Given the description of an element on the screen output the (x, y) to click on. 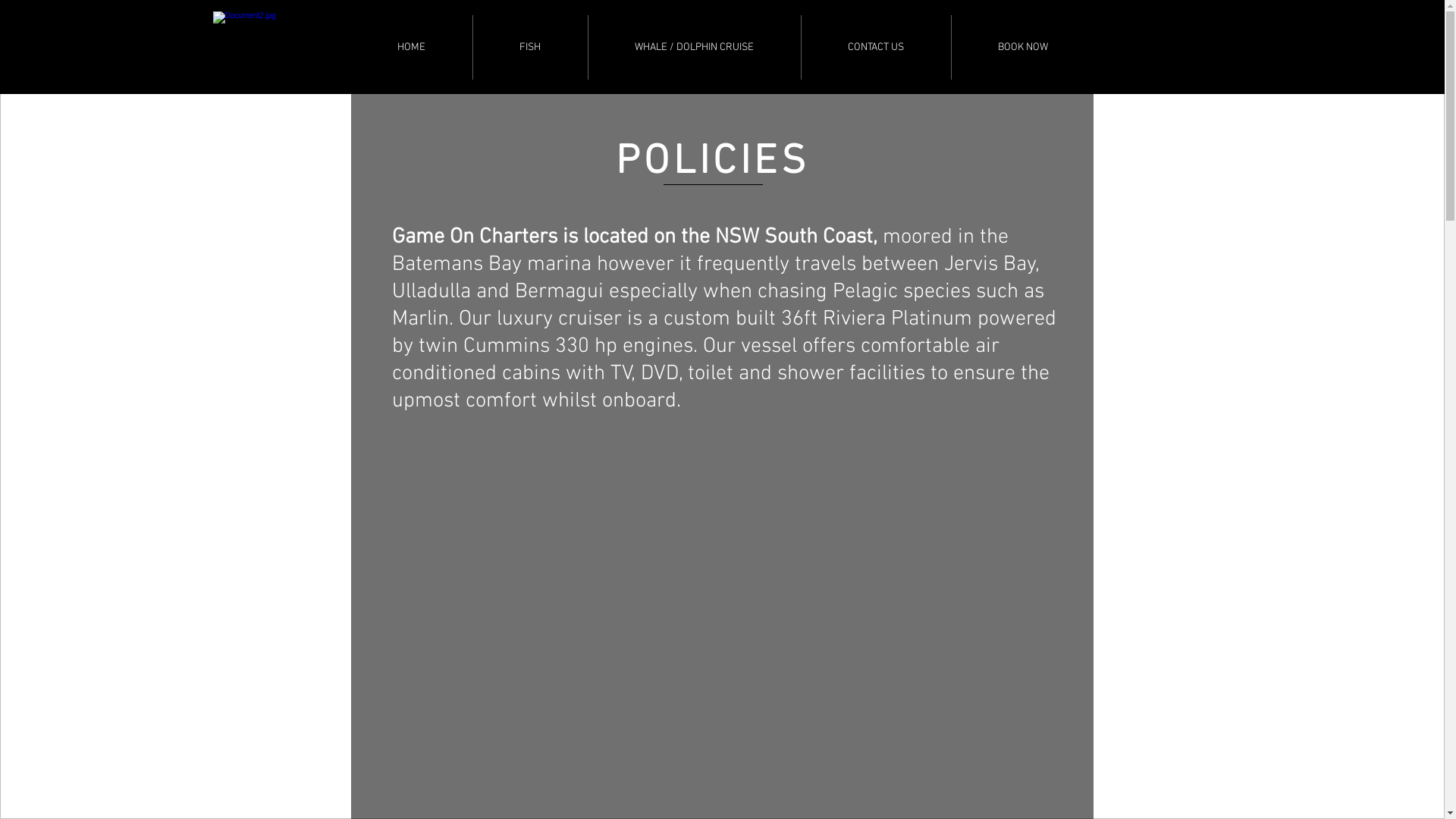
FISH Element type: text (530, 47)
WHALE / DOLPHIN CRUISE Element type: text (694, 47)
HOME Element type: text (411, 47)
BOOK NOW Element type: text (1022, 47)
CONTACT US Element type: text (875, 47)
